Given the description of an element on the screen output the (x, y) to click on. 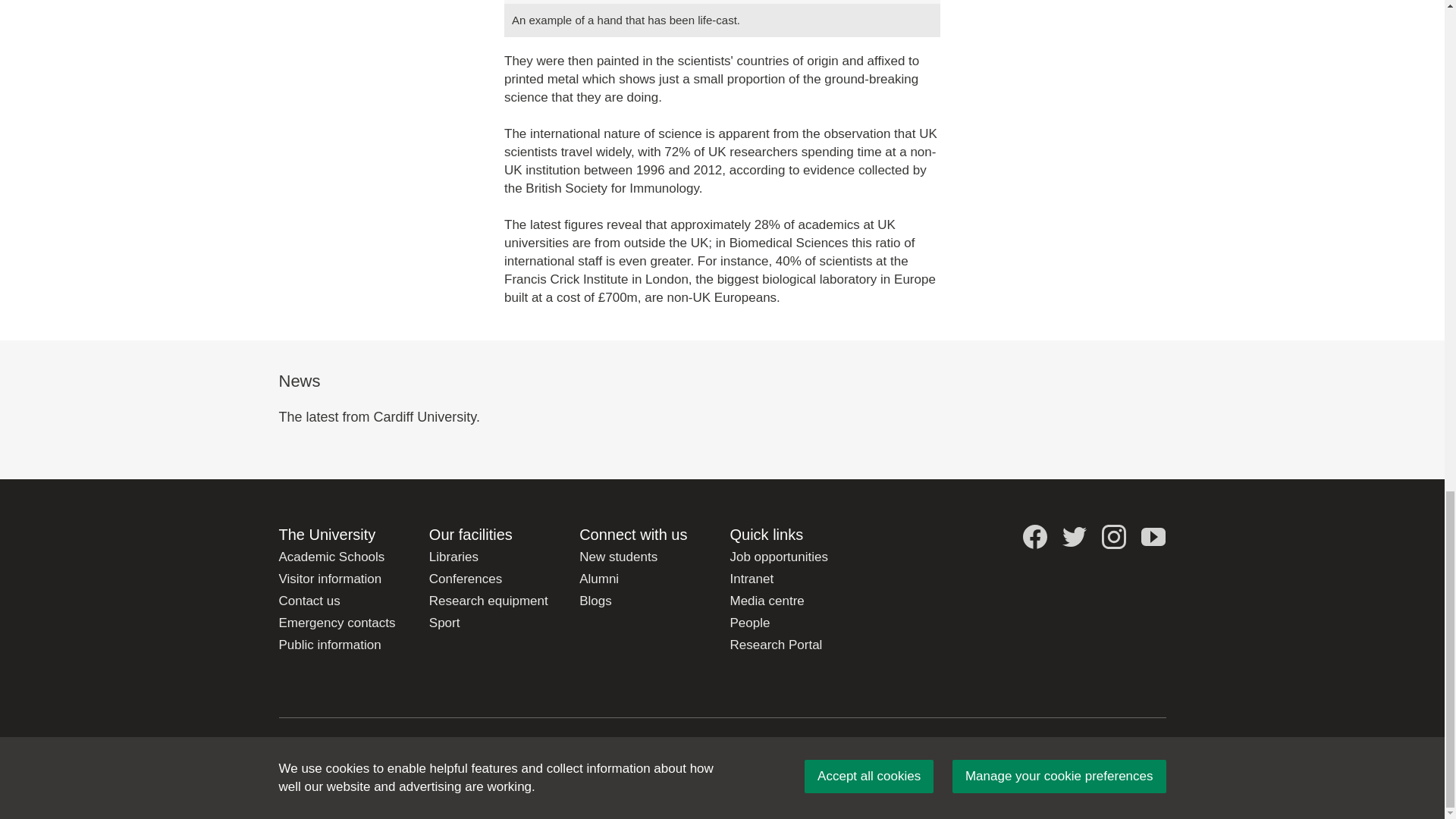
Youtube (1153, 536)
twitter no background icon (1074, 536)
instagram (1113, 536)
facebook (1034, 536)
